Given the description of an element on the screen output the (x, y) to click on. 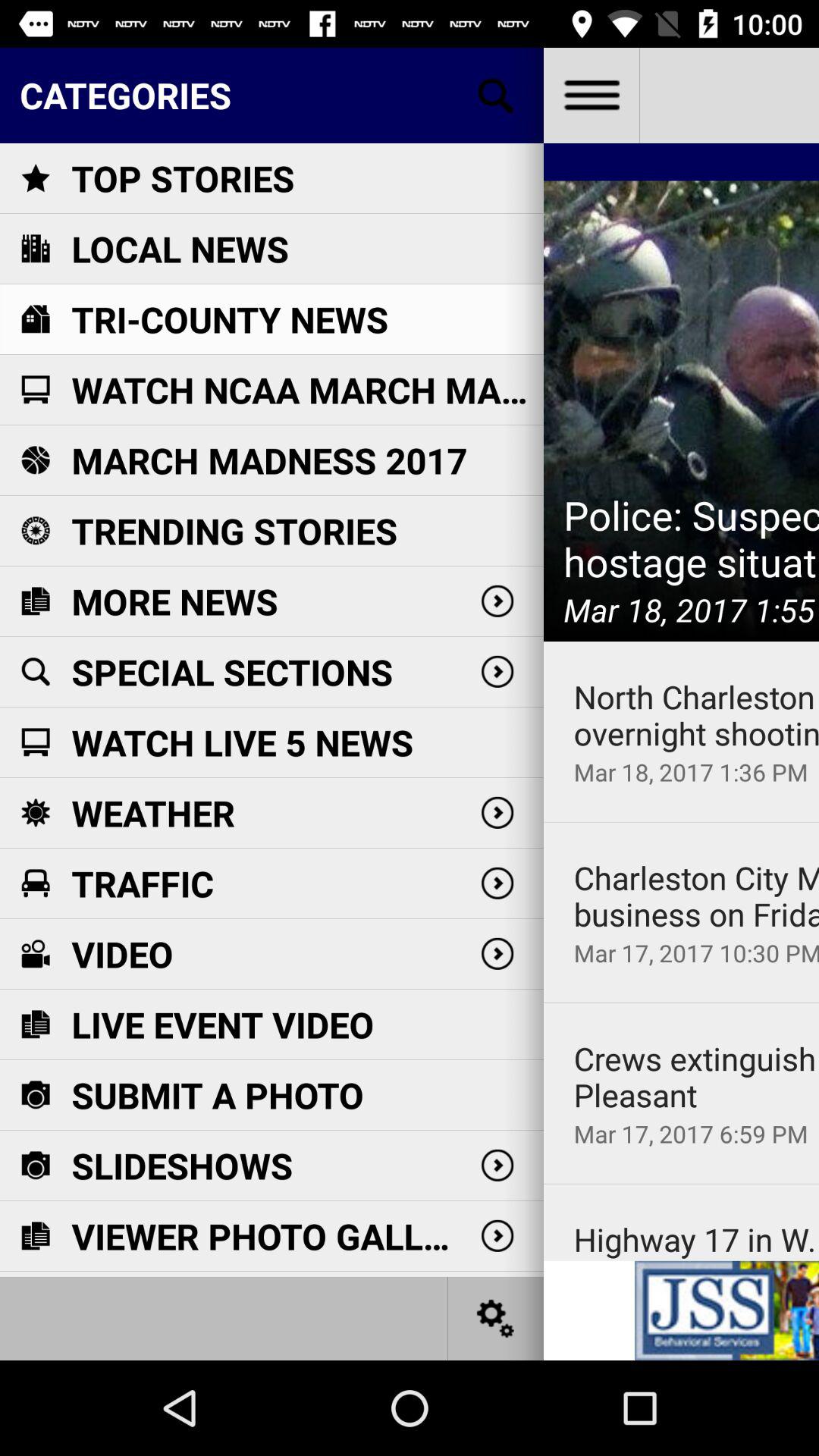
open menu list (591, 95)
